Given the description of an element on the screen output the (x, y) to click on. 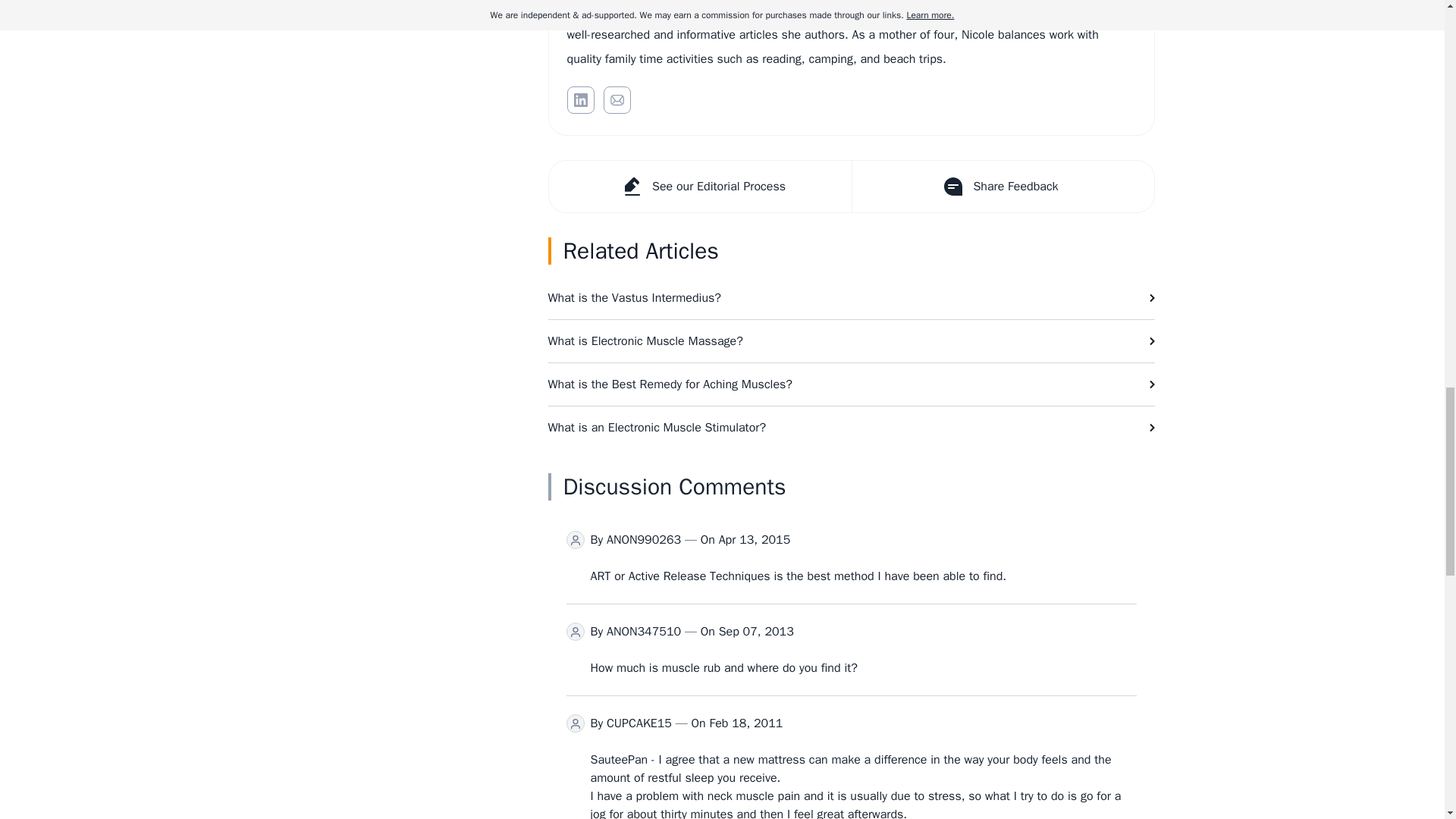
What is Electronic Muscle Massage? (850, 341)
Share Feedback (1001, 186)
See our Editorial Process (699, 186)
What is an Electronic Muscle Stimulator? (850, 427)
What is the Best Remedy for Aching Muscles? (850, 384)
What is the Vastus Intermedius? (850, 297)
